Given the description of an element on the screen output the (x, y) to click on. 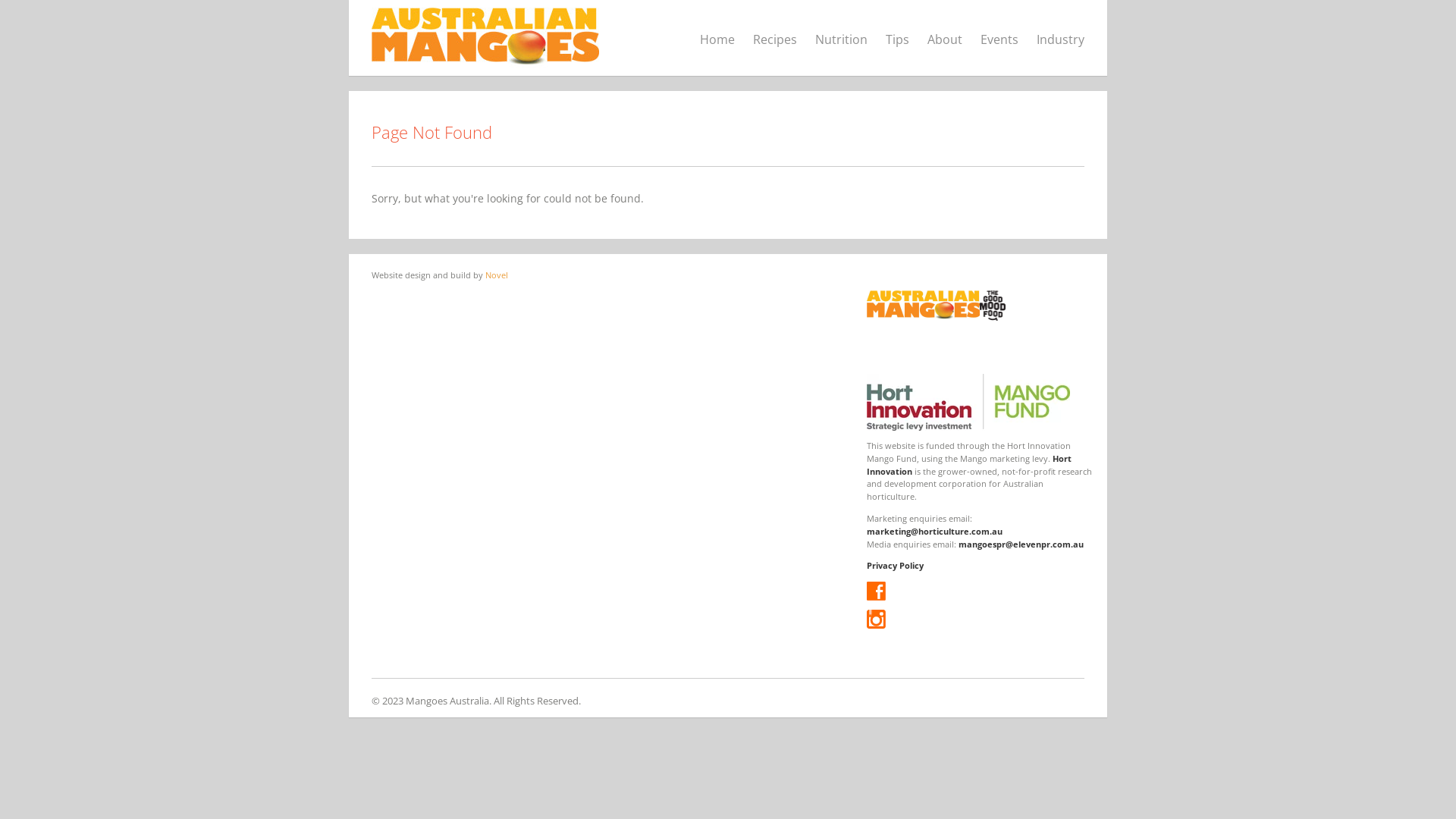
Recipes Element type: text (775, 39)
Nutrition Element type: text (841, 39)
Novel Element type: text (496, 274)
Industry Element type: text (1060, 39)
Hort Innovation Element type: text (968, 464)
Privacy Policy Element type: text (894, 565)
mangoespr@elevenpr.com.au Element type: text (1020, 543)
marketing@horticulture.com.au Element type: text (934, 530)
Events Element type: text (999, 39)
Home Element type: text (716, 39)
